Given the description of an element on the screen output the (x, y) to click on. 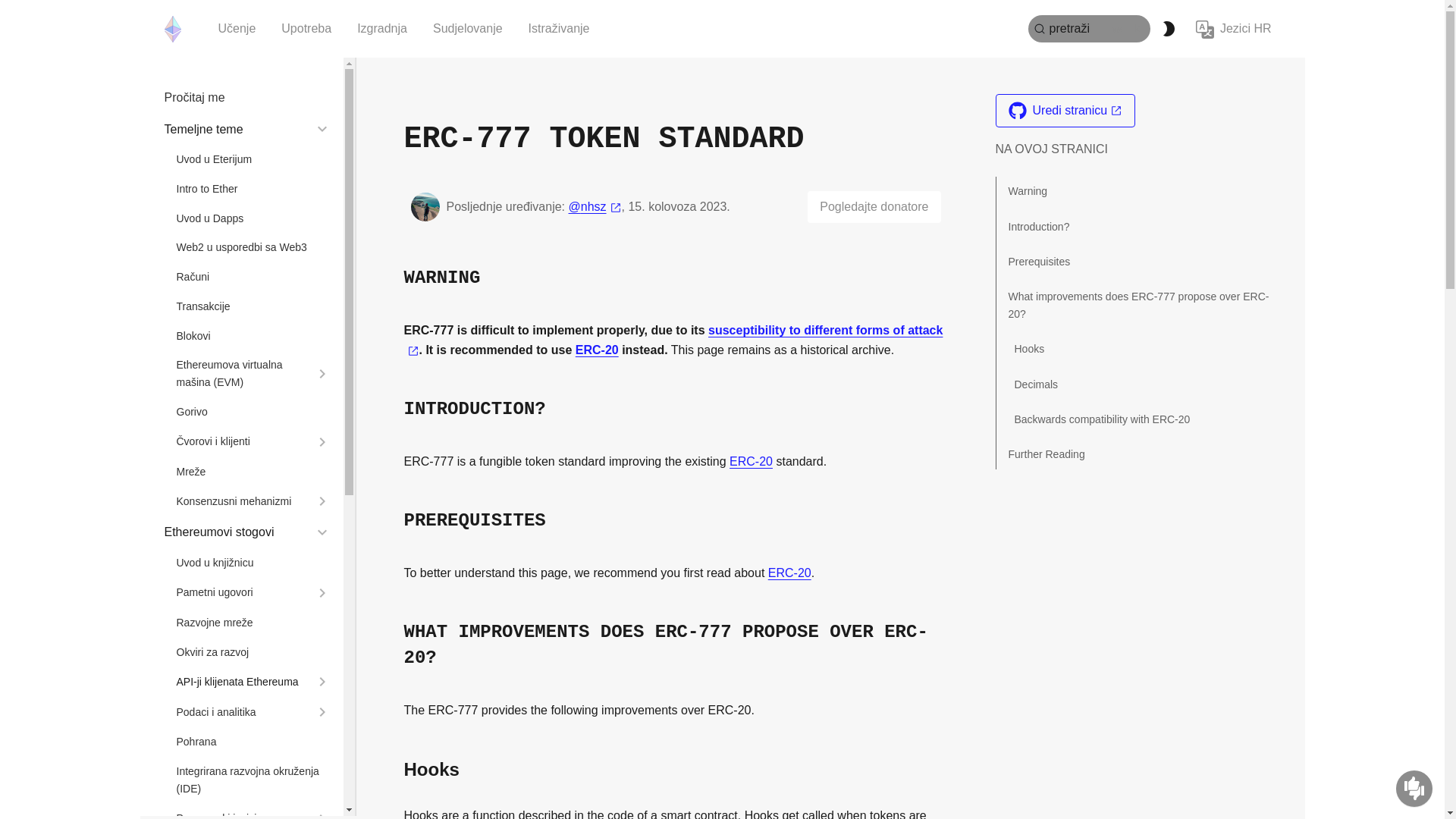
Izgradnja (381, 28)
Jezici HR (1233, 29)
Blokovi (253, 335)
Sudjelovanje (467, 28)
Uvod u Eterijum (253, 159)
Web2 u usporedbi sa Web3 (253, 247)
Uvod u Dapps (253, 218)
Gorivo (253, 411)
Transakcije (253, 306)
Upotreba (305, 28)
